Given the description of an element on the screen output the (x, y) to click on. 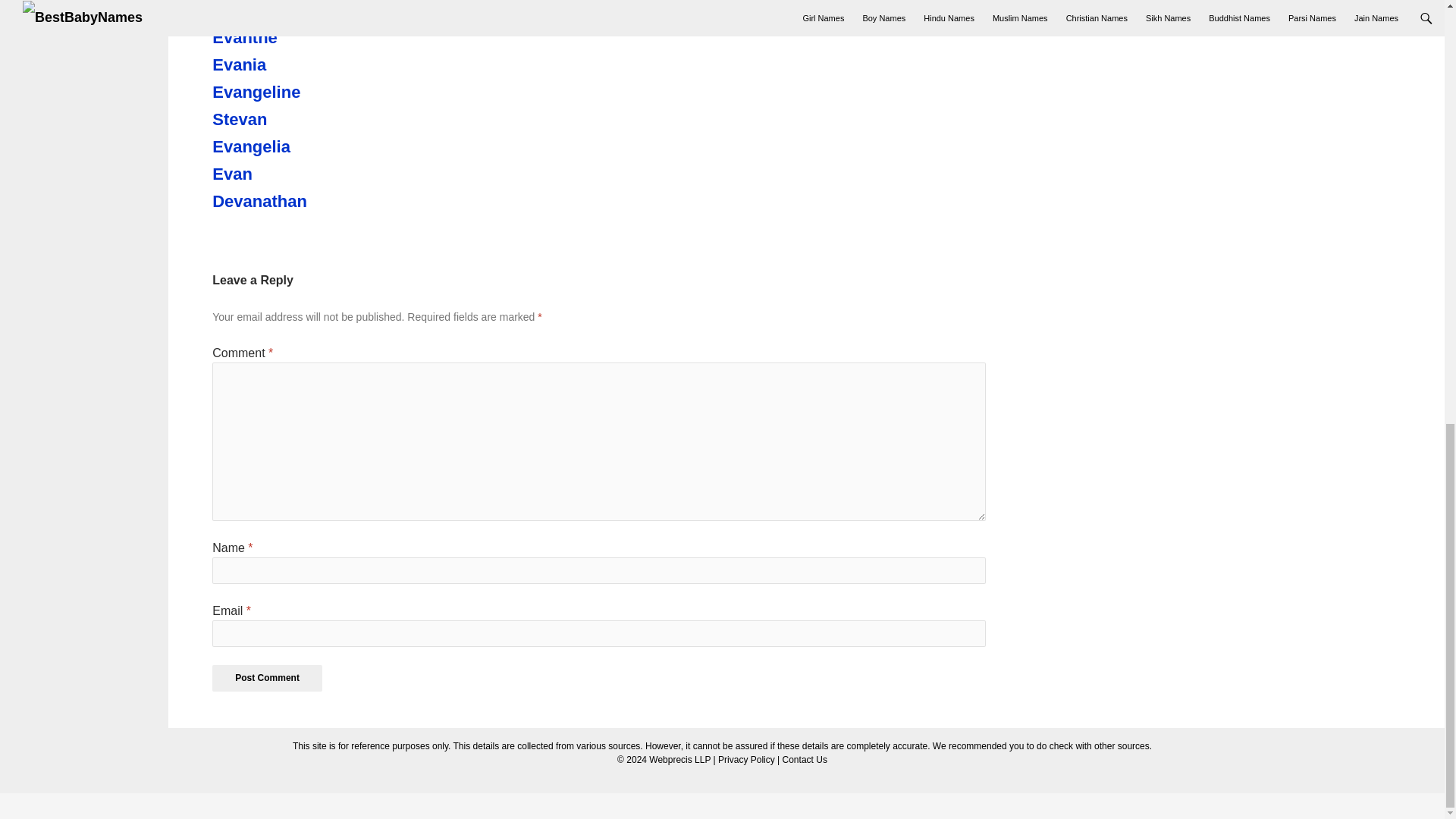
Post Comment (266, 678)
Evanthe (295, 37)
Devanathan (295, 201)
Stevan (295, 119)
Evangelia (295, 147)
Evangeline (295, 92)
Bevan (295, 10)
Evania (295, 65)
Evan (295, 174)
Post Comment (266, 678)
